Given the description of an element on the screen output the (x, y) to click on. 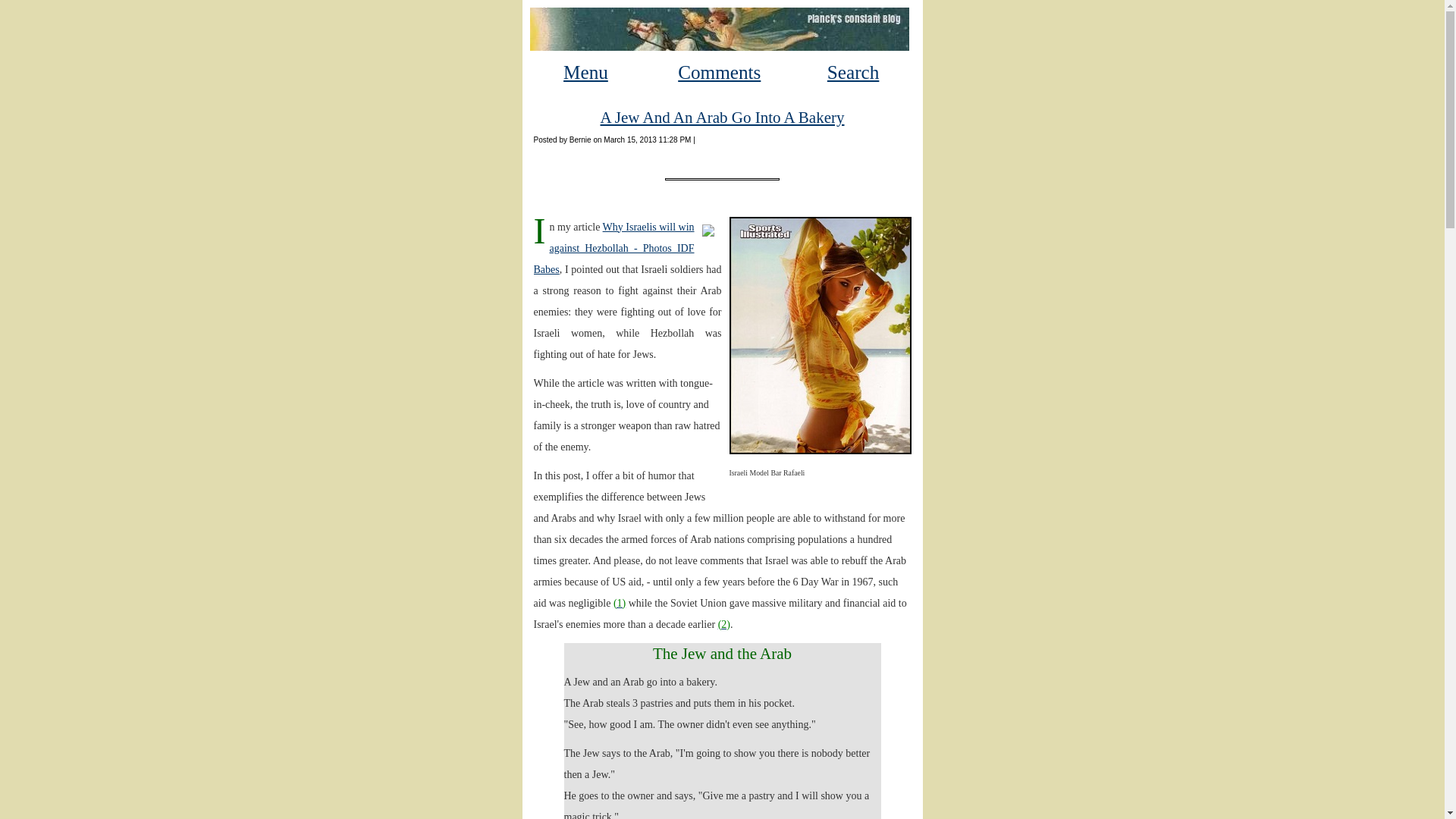
Comments (719, 72)
A Jew And An Arab Go Into A Bakery (721, 117)
Why Israelis will win against Hezbollah - Photos IDF Babes (614, 248)
Search (853, 72)
Menu (585, 72)
